Given the description of an element on the screen output the (x, y) to click on. 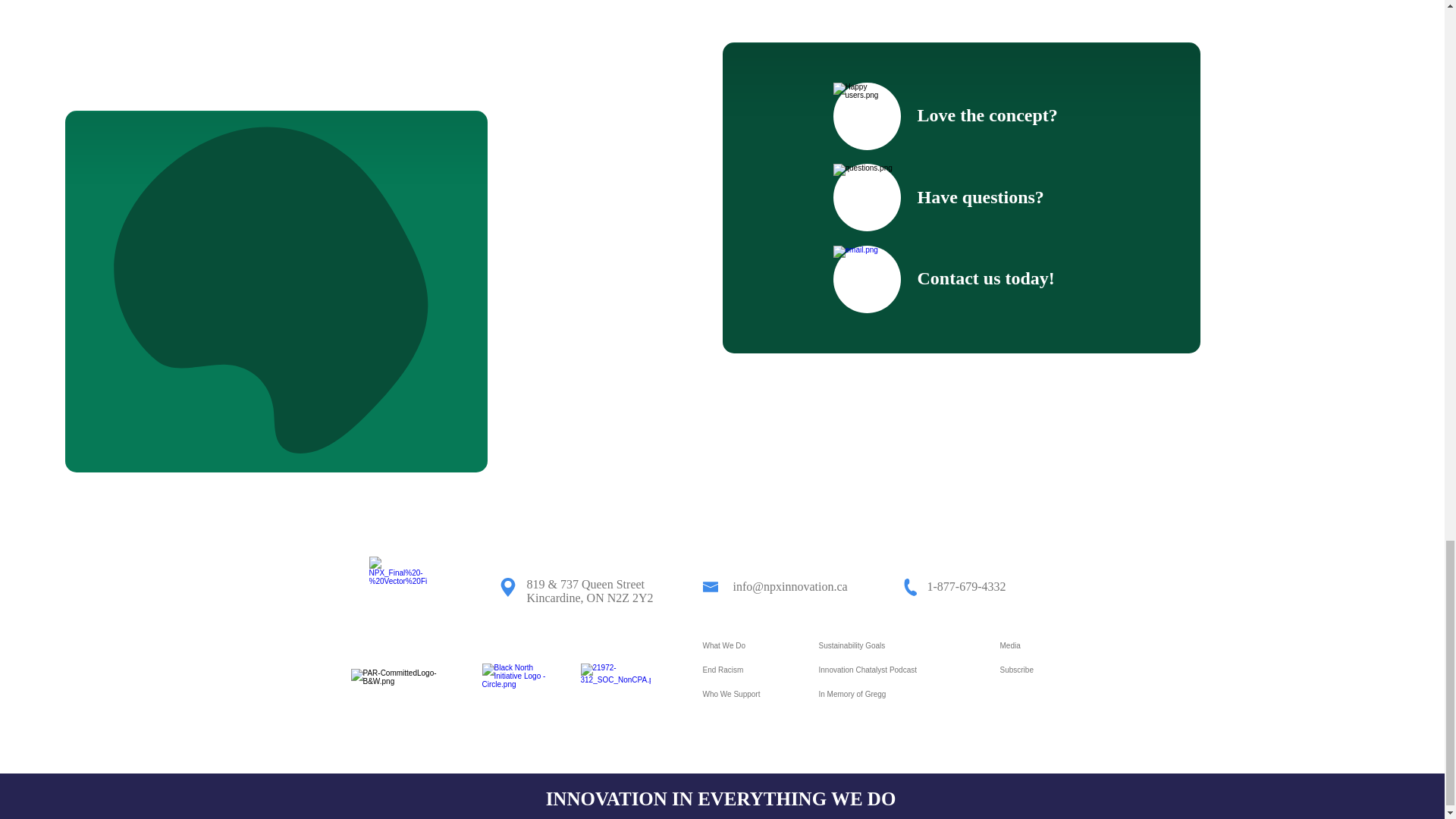
Media (1045, 645)
1-877-679-4332 (966, 585)
Innovation Chatalyst Podcast (898, 670)
Contact us today! (985, 278)
Subscribe (1045, 670)
Sustainability Goals (898, 645)
In Memory of Gregg (898, 694)
End Racism (748, 670)
Who We Support (748, 694)
